Given the description of an element on the screen output the (x, y) to click on. 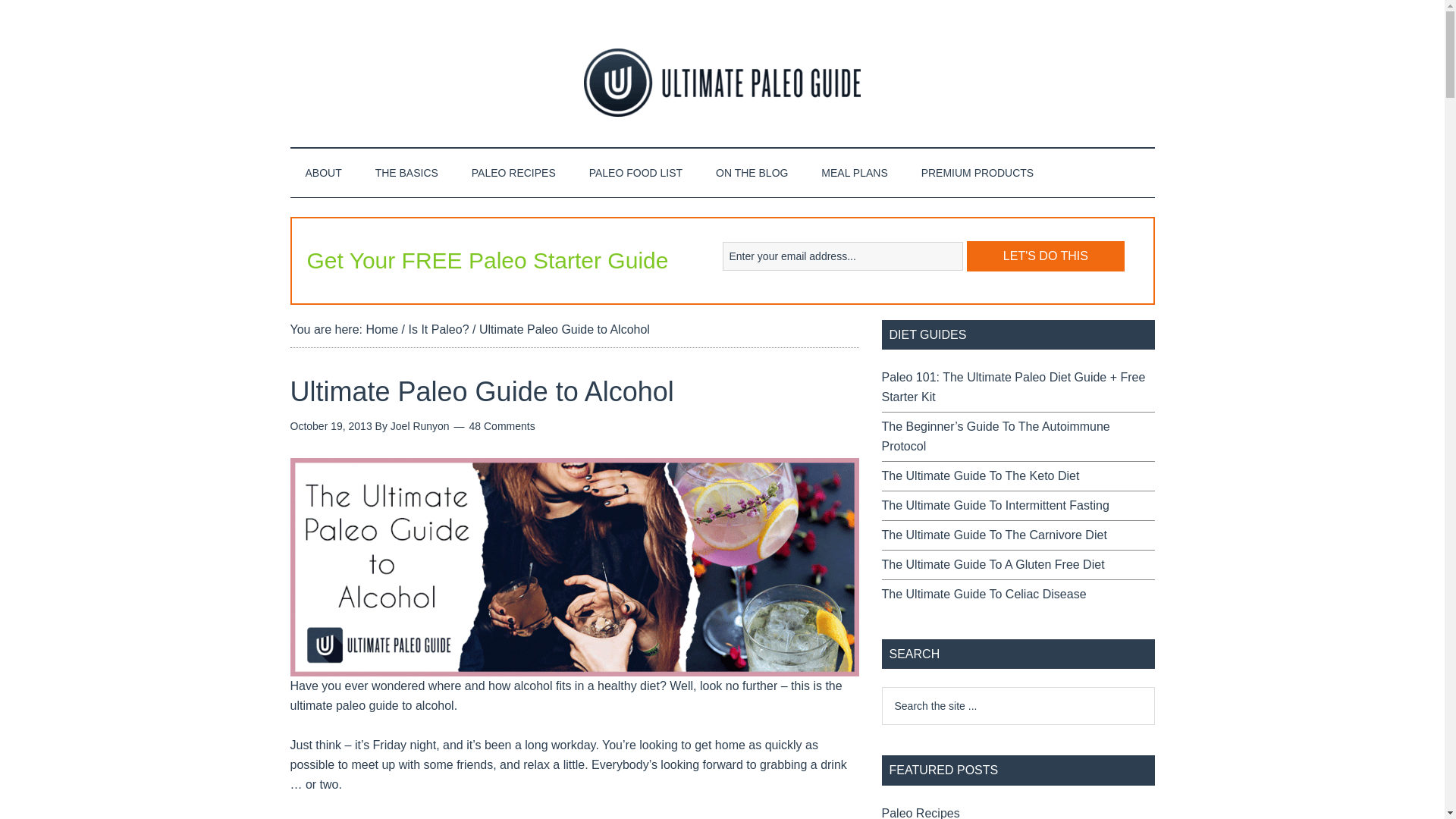
PALEO RECIPES (513, 172)
ABOUT (322, 172)
PREMIUM PRODUCTS (977, 172)
ON THE BLOG (751, 172)
Home (381, 328)
THE BASICS (405, 172)
Joel Runyon (419, 426)
LET'S DO THIS (1045, 255)
PALEO FOOD LIST (635, 172)
